Given the description of an element on the screen output the (x, y) to click on. 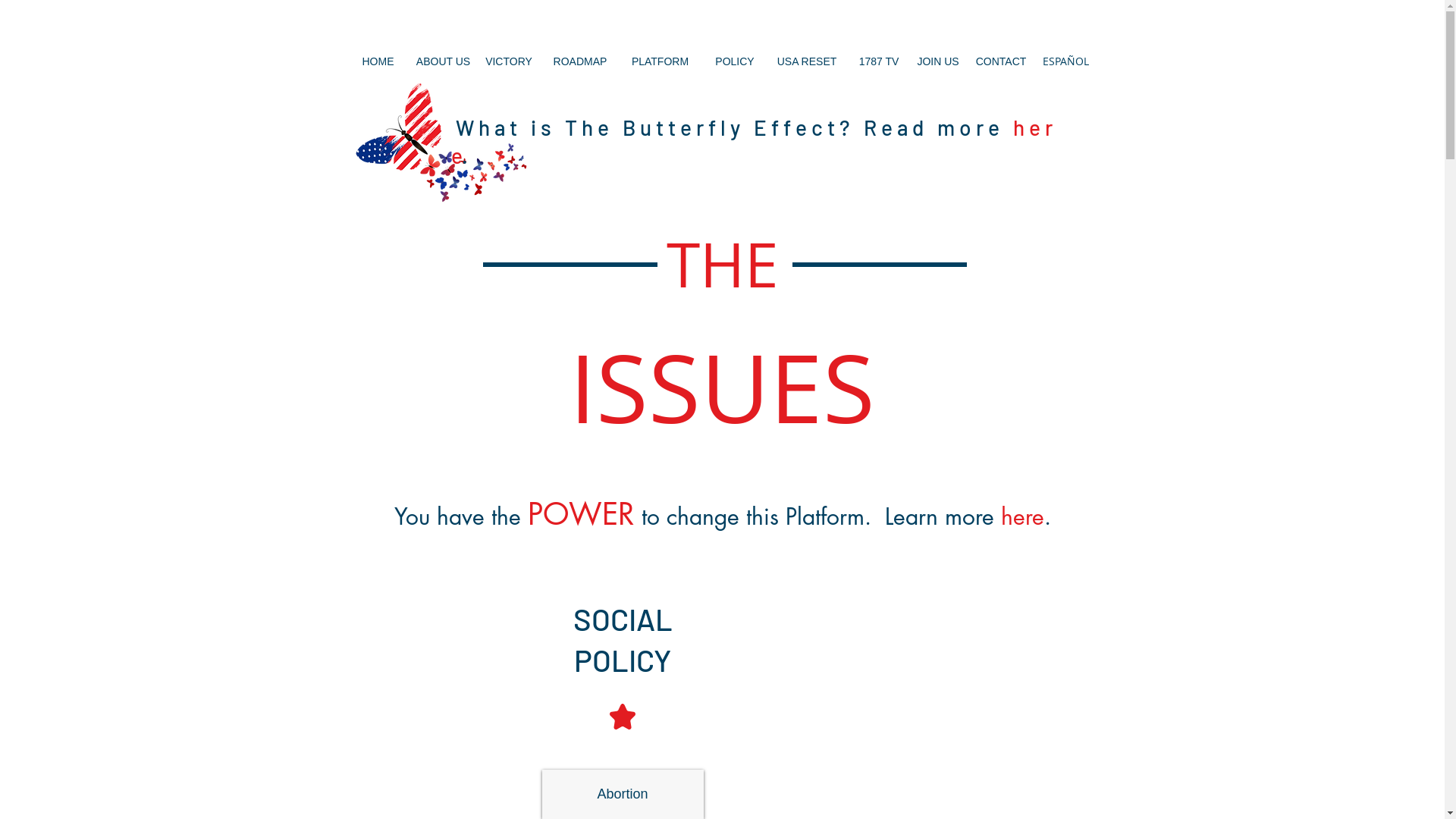
h e r e Element type: text (750, 141)
ROADMAP Element type: text (580, 60)
POWER Element type: text (580, 516)
JOIN US Element type: text (937, 60)
1787 TV Element type: text (879, 60)
here Element type: text (1022, 516)
VICTORY Element type: text (508, 60)
CONTACT Element type: text (1000, 60)
USA RESET Element type: text (807, 60)
ABOUT US Element type: text (443, 60)
POLICY Element type: text (734, 60)
HOME Element type: text (378, 60)
PLATFORM Element type: text (659, 60)
